Given the description of an element on the screen output the (x, y) to click on. 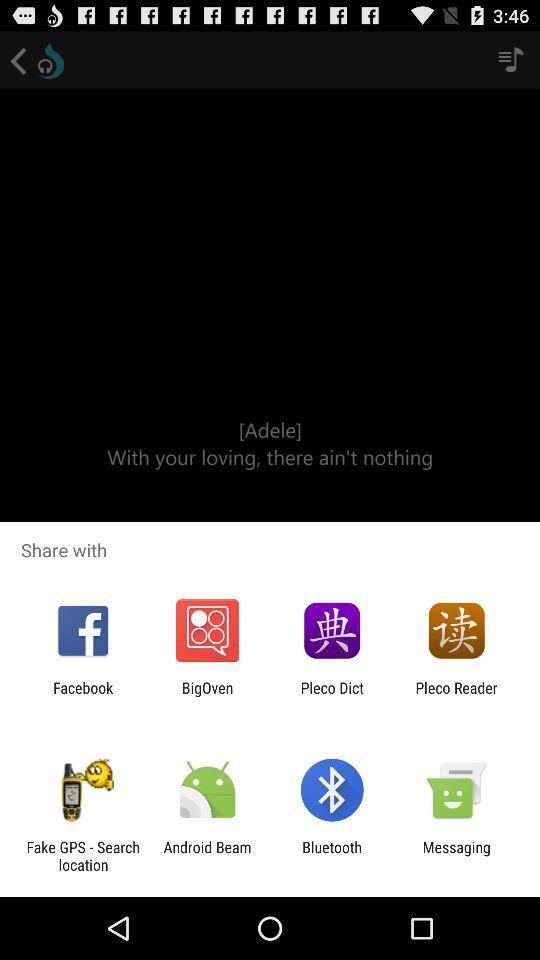
launch the android beam icon (207, 856)
